Given the description of an element on the screen output the (x, y) to click on. 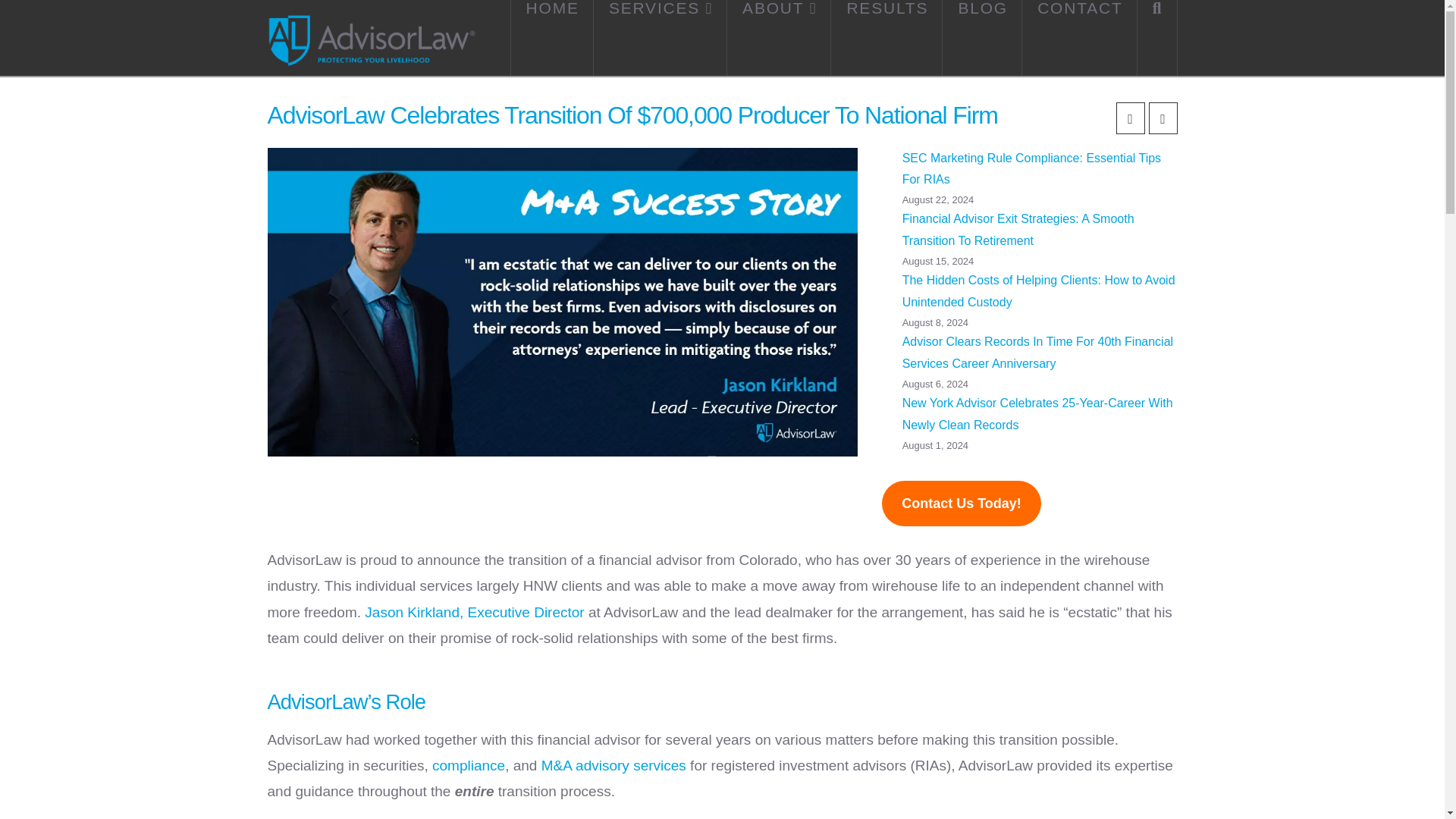
BLOG (982, 38)
CONTACT (1079, 38)
ABOUT (778, 38)
SERVICES (660, 38)
RESULTS (886, 38)
HOME (552, 38)
